Given the description of an element on the screen output the (x, y) to click on. 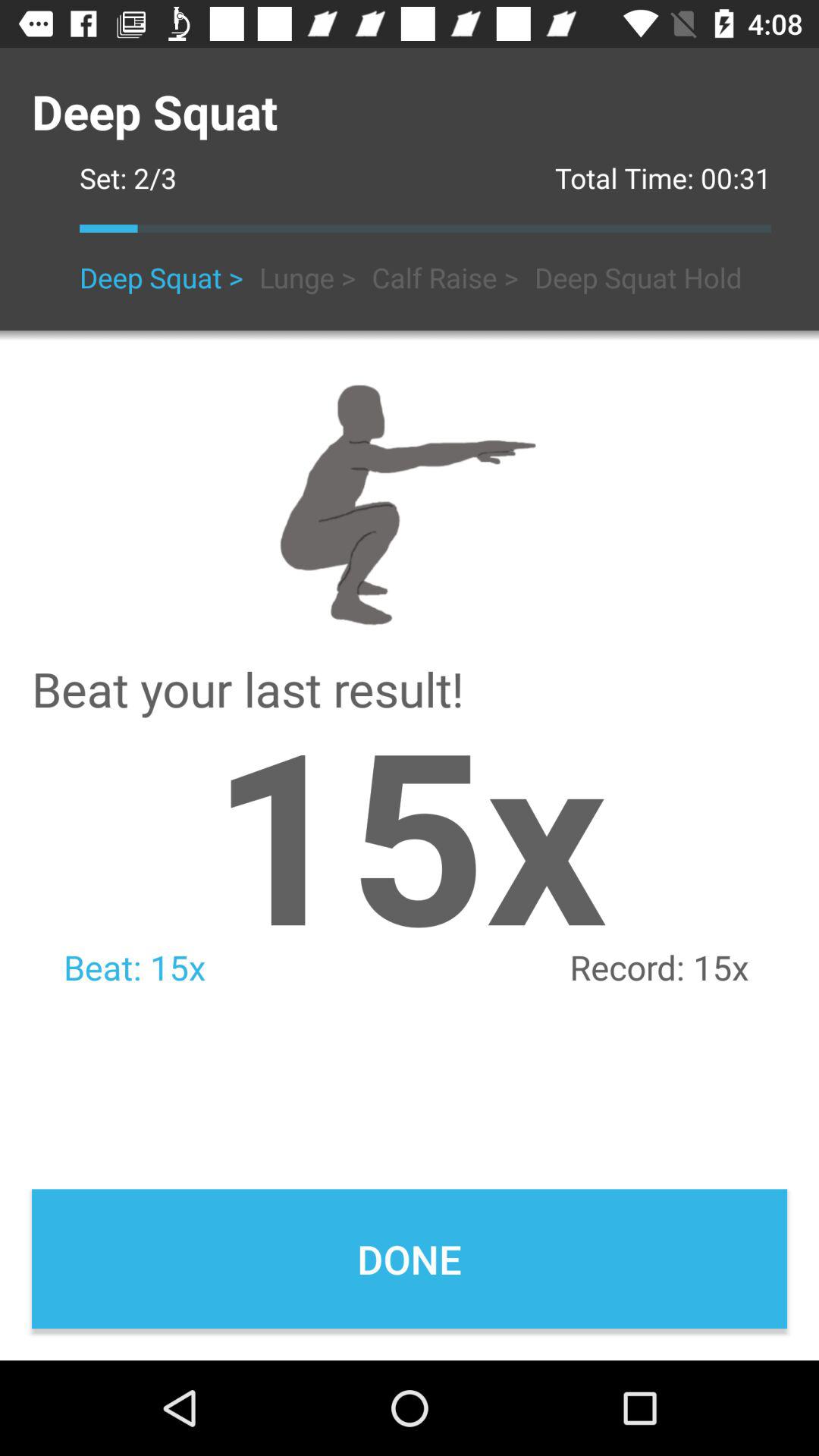
press the item below beat: (409, 1258)
